Given the description of an element on the screen output the (x, y) to click on. 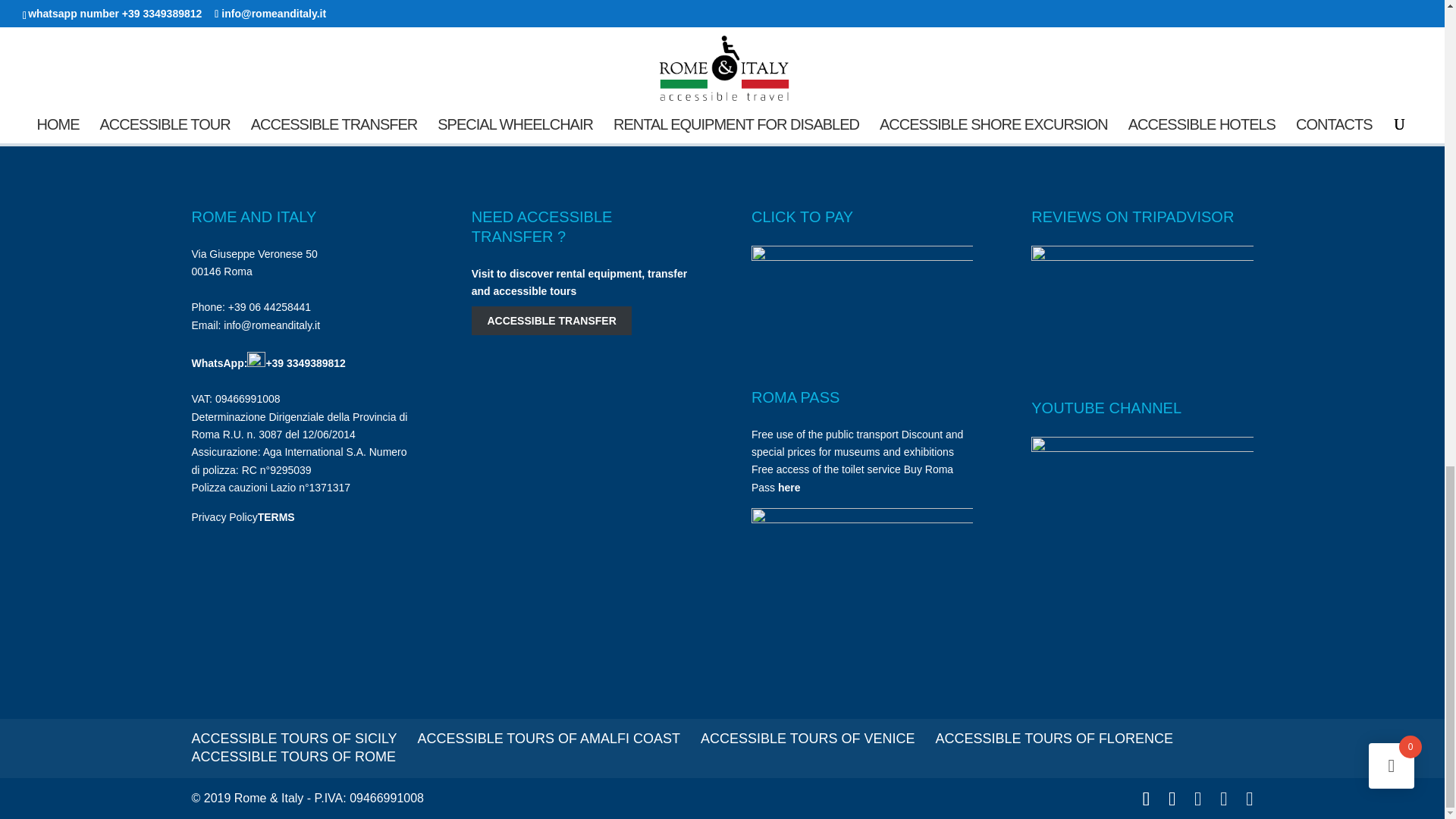
ACCESSIBLE TOURS OF VENICE (807, 738)
here (788, 487)
ACCESSIBLE TOURS OF AMALFI COAST (548, 738)
ACCESSIBLE TRANSFER (551, 320)
ACCESSIBLE TOURS OF SICILY (293, 738)
ACCESSIBLE TOURS OF ROME (292, 756)
TERMS (276, 517)
WhatsApp: (227, 363)
ACCESSIBLE TOURS OF FLORENCE (1053, 738)
